Given the description of an element on the screen output the (x, y) to click on. 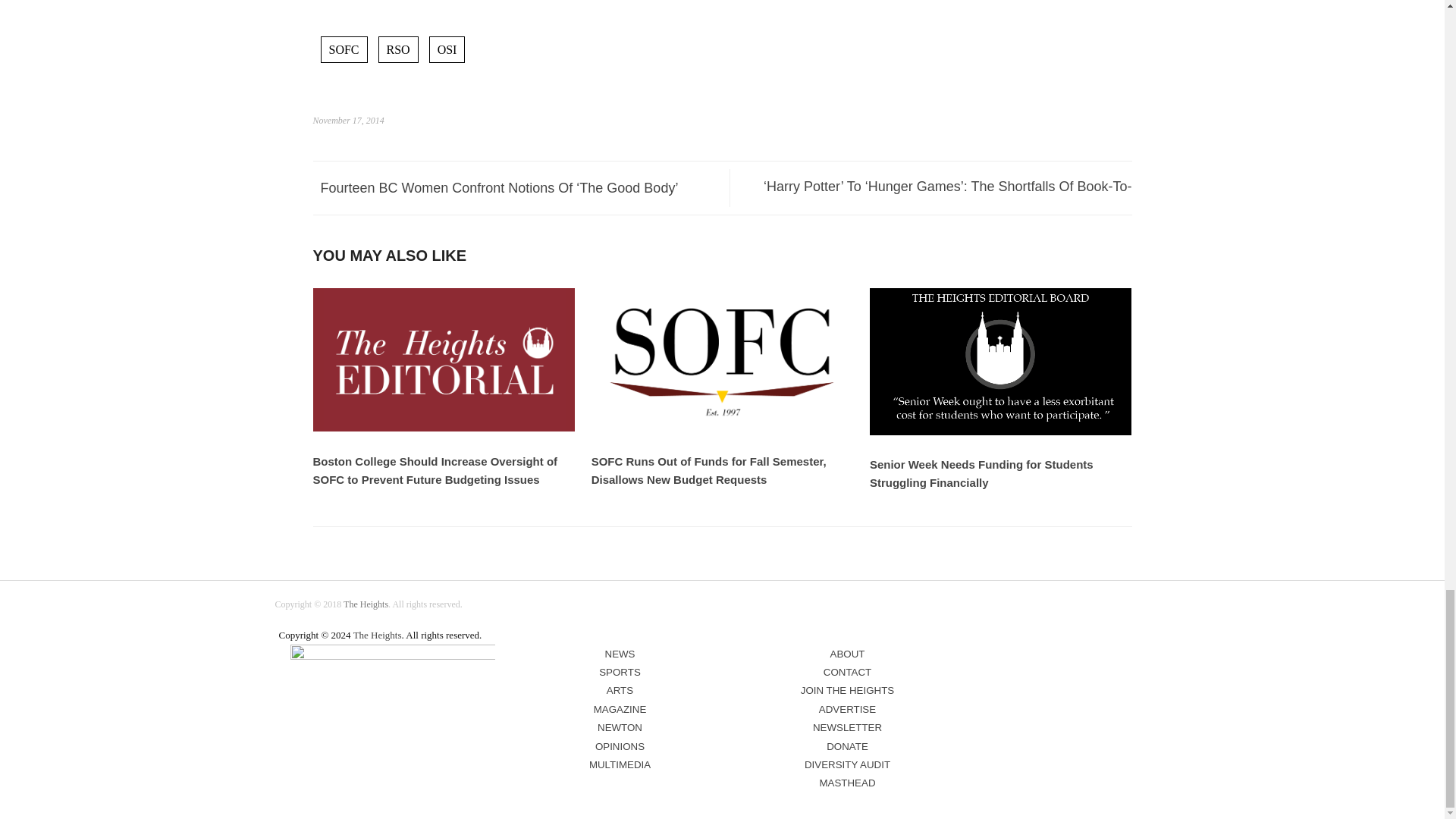
compromise2 (392, 666)
The Heights (377, 634)
SOFC (343, 49)
OSI (447, 49)
The Heights (365, 603)
RSO (398, 49)
